Given the description of an element on the screen output the (x, y) to click on. 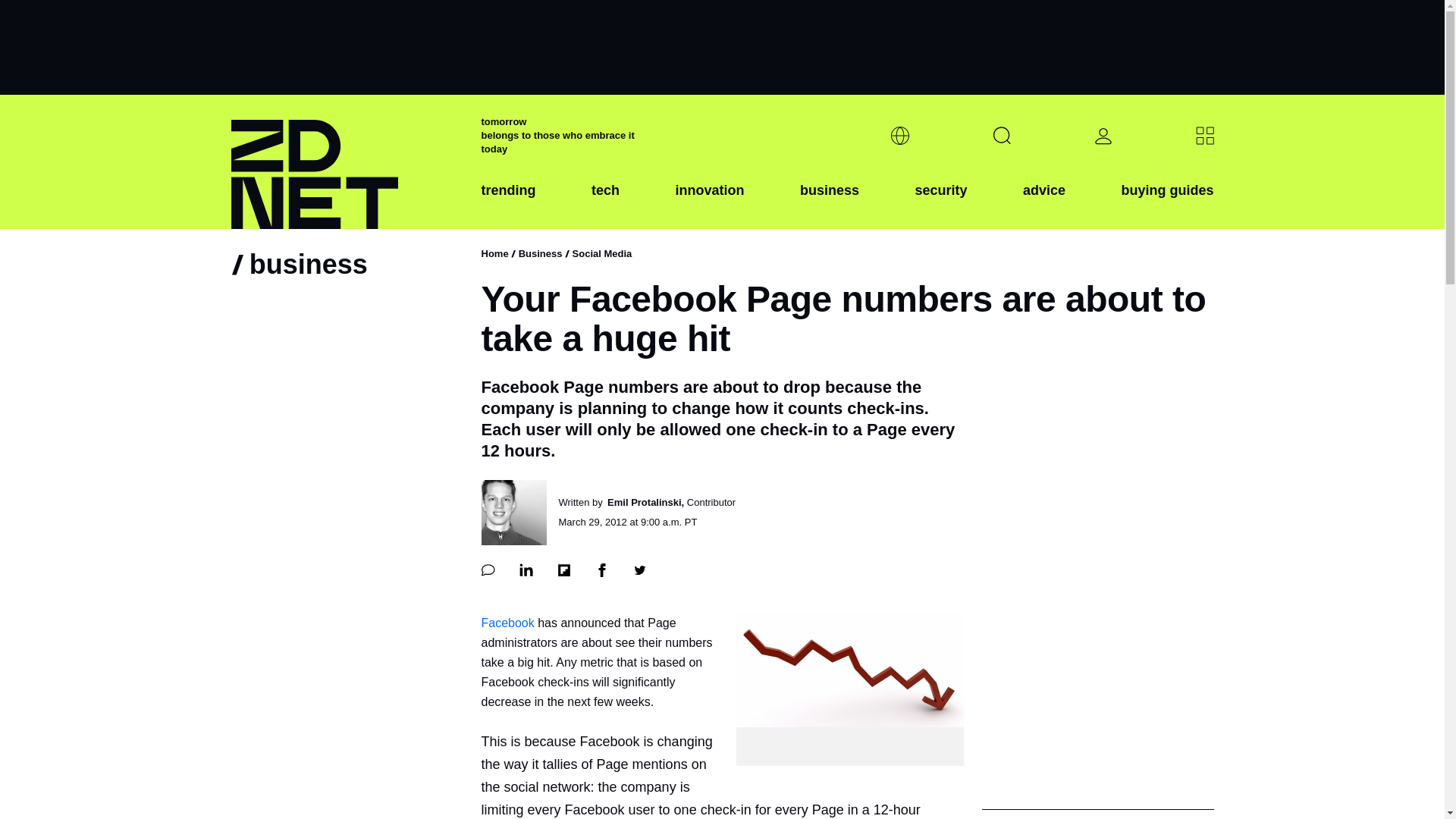
trending (507, 202)
tech (605, 202)
ZDNET (346, 162)
